Given the description of an element on the screen output the (x, y) to click on. 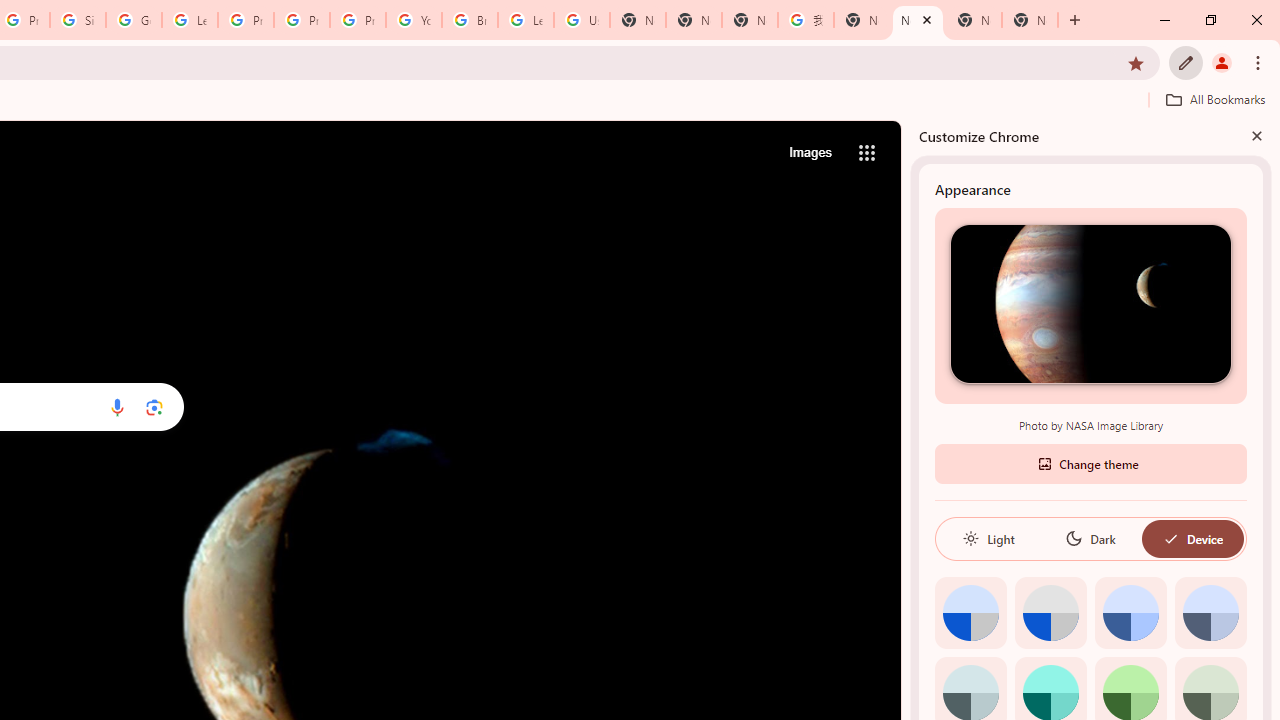
Grey default color (1050, 612)
Privacy Help Center - Policies Help (245, 20)
New Tab (693, 20)
Sign in - Google Accounts (77, 20)
